Given the description of an element on the screen output the (x, y) to click on. 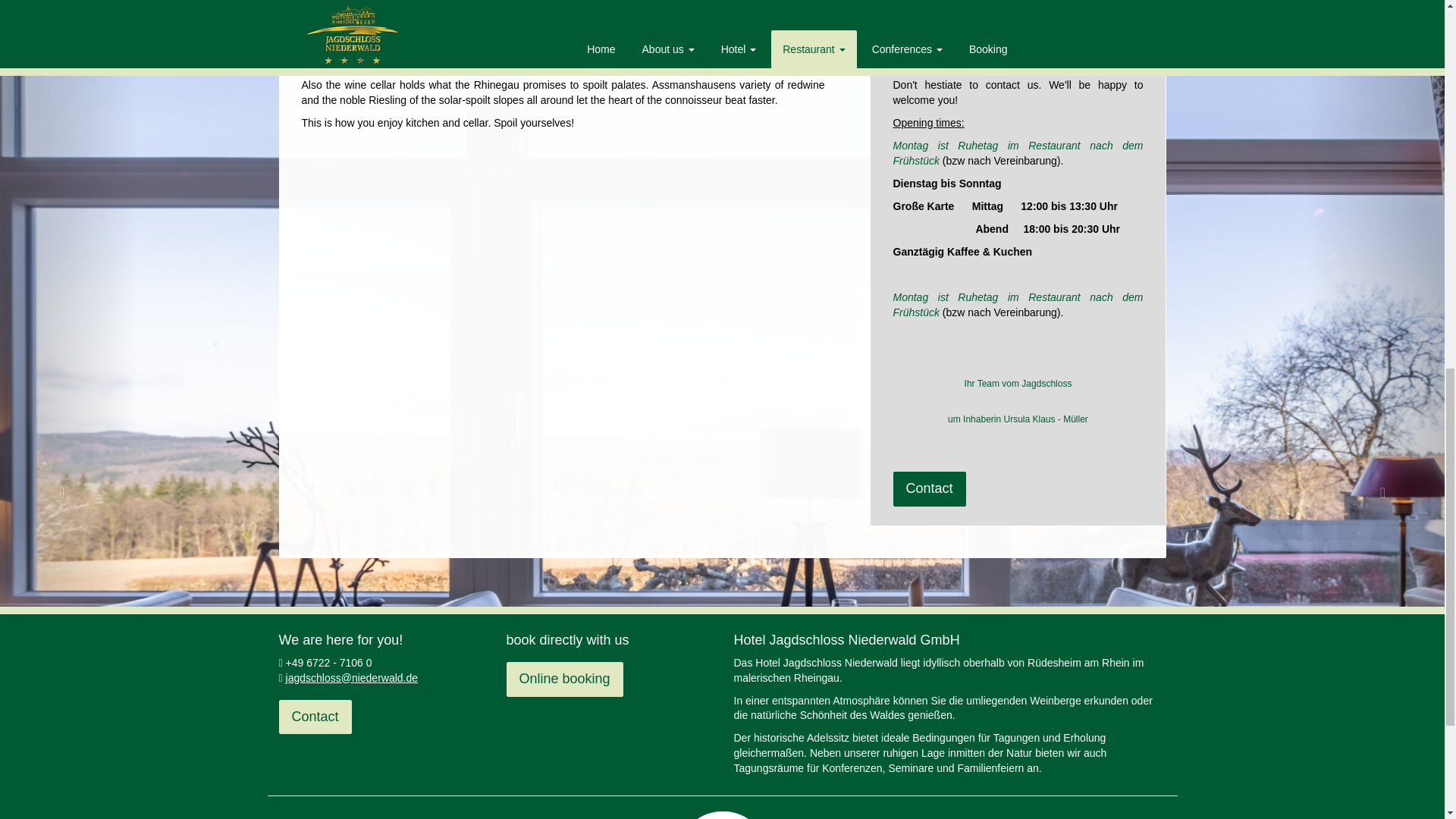
Contact (315, 716)
Online booking (564, 678)
Contact (929, 488)
